Given the description of an element on the screen output the (x, y) to click on. 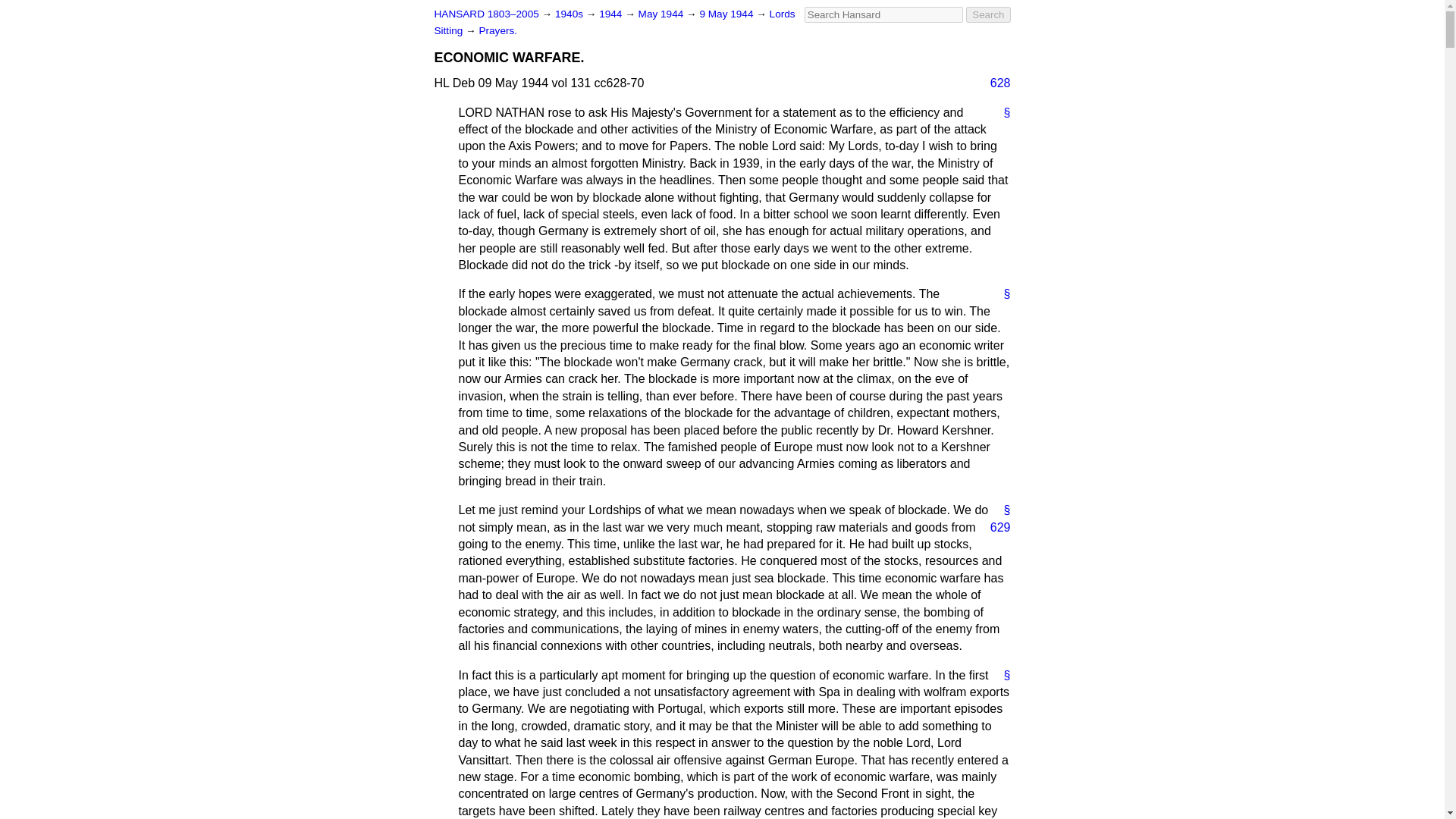
Search (988, 14)
Prayers. (497, 30)
Link to this contribution (1000, 510)
9 May 1944 (726, 13)
Lords Sitting (613, 22)
Link to this contribution (1000, 112)
628 (994, 83)
629 (994, 527)
1940s (570, 13)
1944 (611, 13)
May 1944 (662, 13)
Link to this contribution (1000, 293)
Search (988, 14)
Access key: S (883, 14)
Link to this contribution (1000, 675)
